Given the description of an element on the screen output the (x, y) to click on. 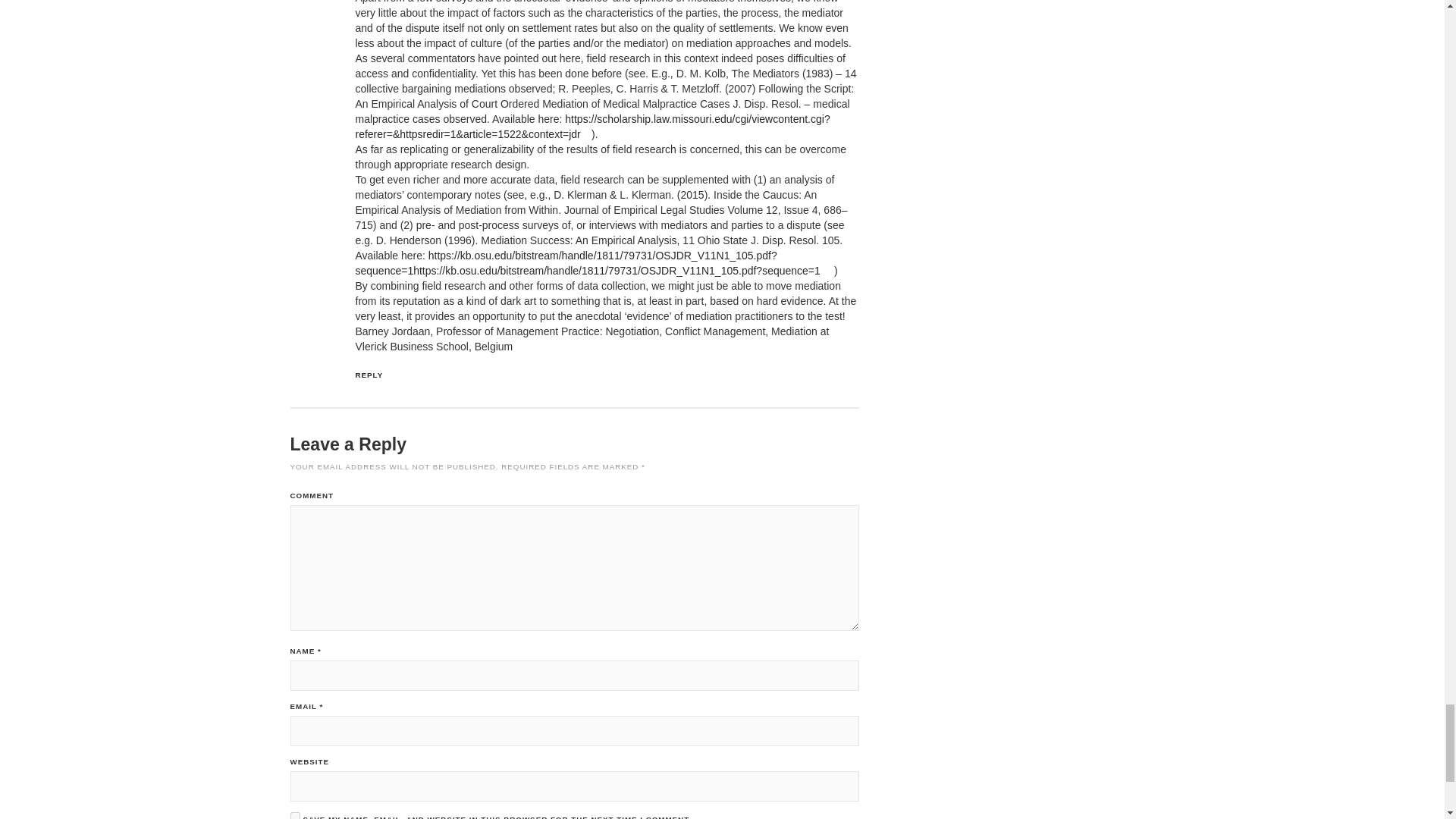
yes (294, 815)
